Given the description of an element on the screen output the (x, y) to click on. 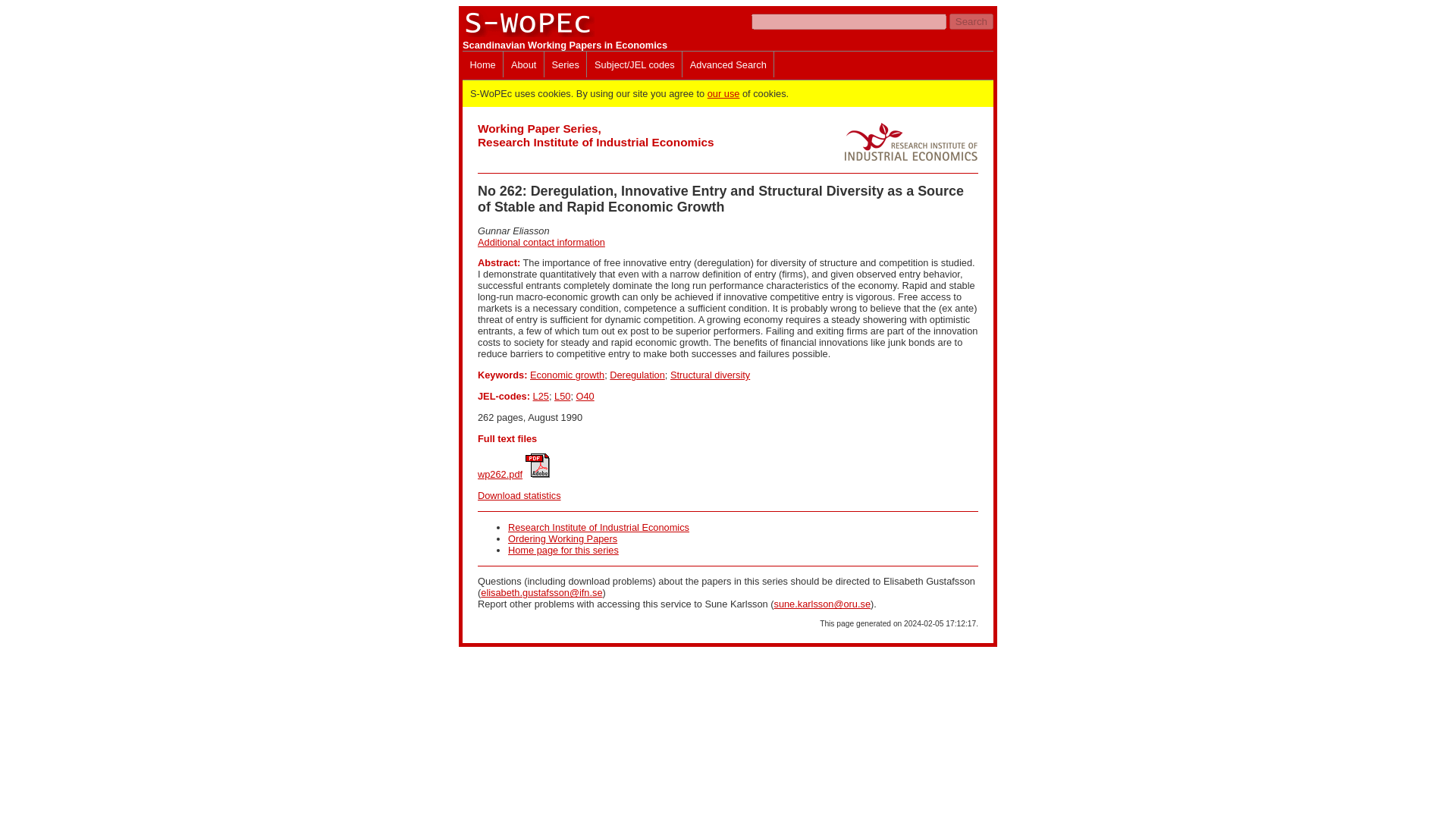
L50 (562, 396)
About (523, 63)
wp262.pdf (499, 473)
Economic growth (566, 374)
Structural diversity (709, 374)
Home (482, 63)
our use (723, 93)
Search (970, 21)
O40 (585, 396)
Advanced Search (727, 63)
L25 (540, 396)
Search (970, 21)
Download statistics (518, 495)
Deregulation (637, 374)
Series (565, 63)
